Given the description of an element on the screen output the (x, y) to click on. 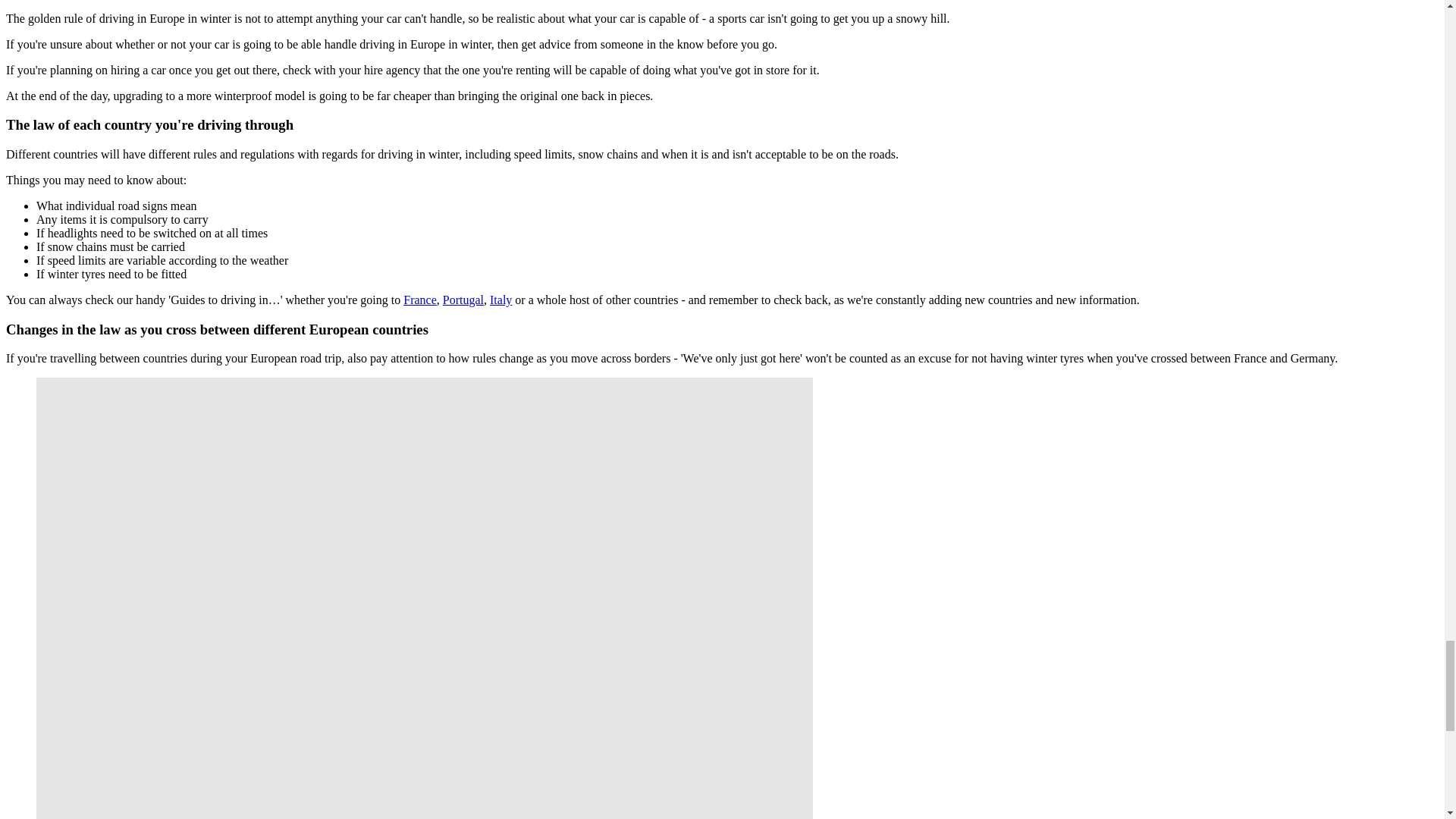
Portugal (462, 299)
Italy (500, 299)
France (419, 299)
